Given the description of an element on the screen output the (x, y) to click on. 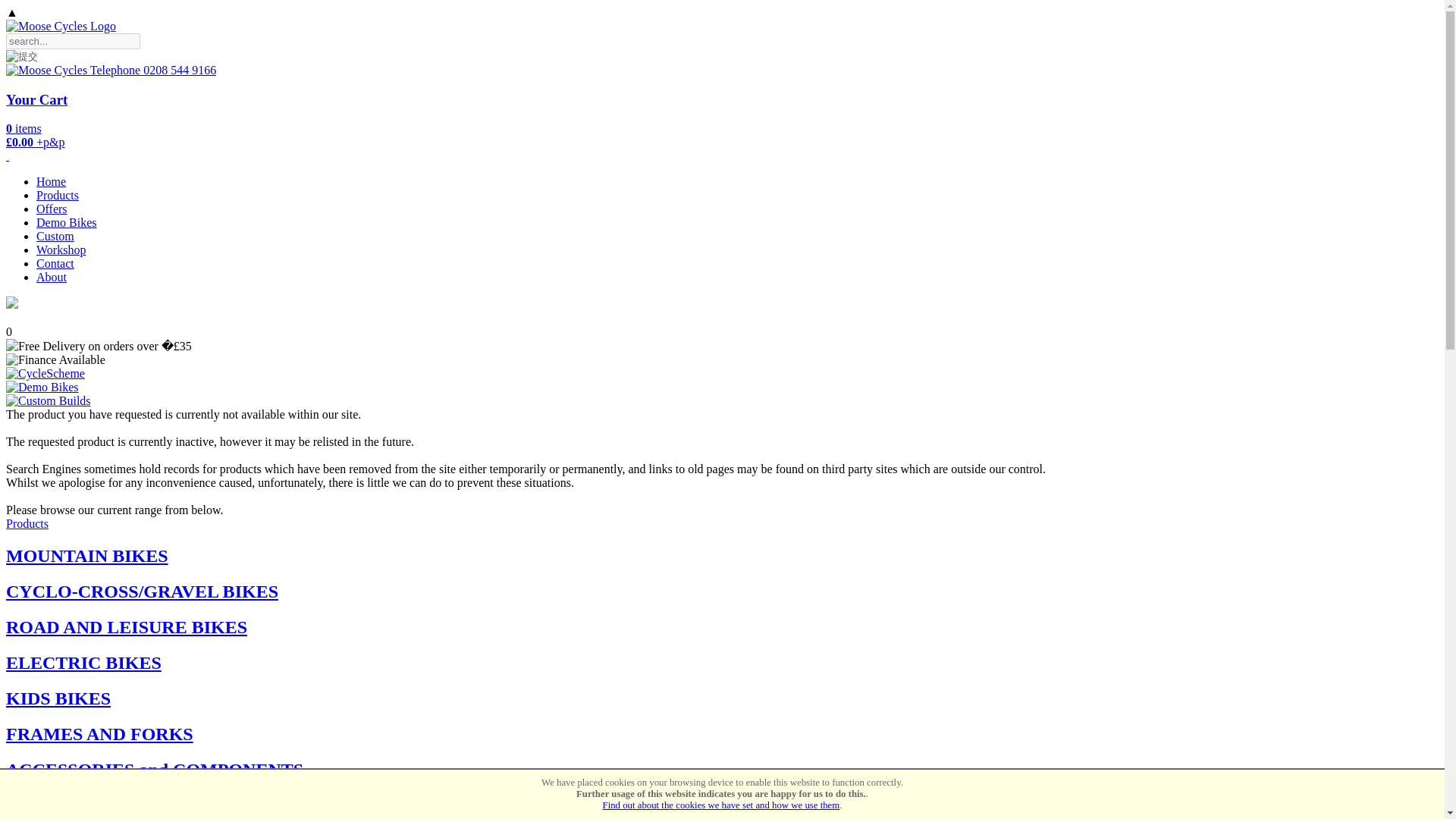
Products (57, 195)
Browse Catalogue (57, 195)
Offers (51, 208)
ELECTRIC BIKES (83, 662)
Contact (55, 263)
Checkout (35, 99)
Custom (55, 236)
Special Offers (51, 208)
Demo Bikes (66, 222)
Demo Bikes (66, 222)
Contact Us (55, 263)
MOUNTAIN BIKES (86, 555)
Custom Build (55, 236)
About Us (51, 277)
About (51, 277)
